Given the description of an element on the screen output the (x, y) to click on. 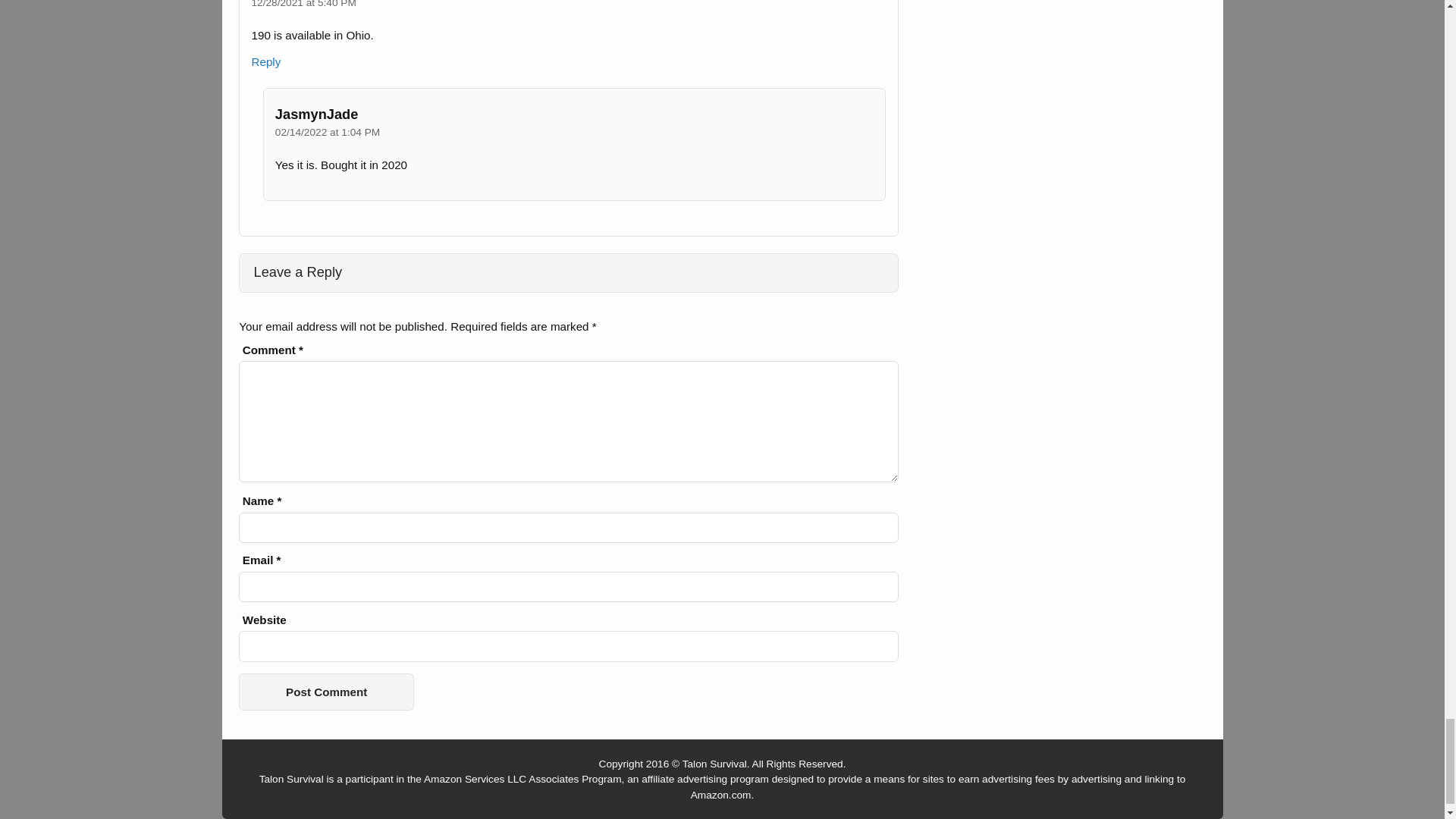
Post Comment (325, 691)
